Given the description of an element on the screen output the (x, y) to click on. 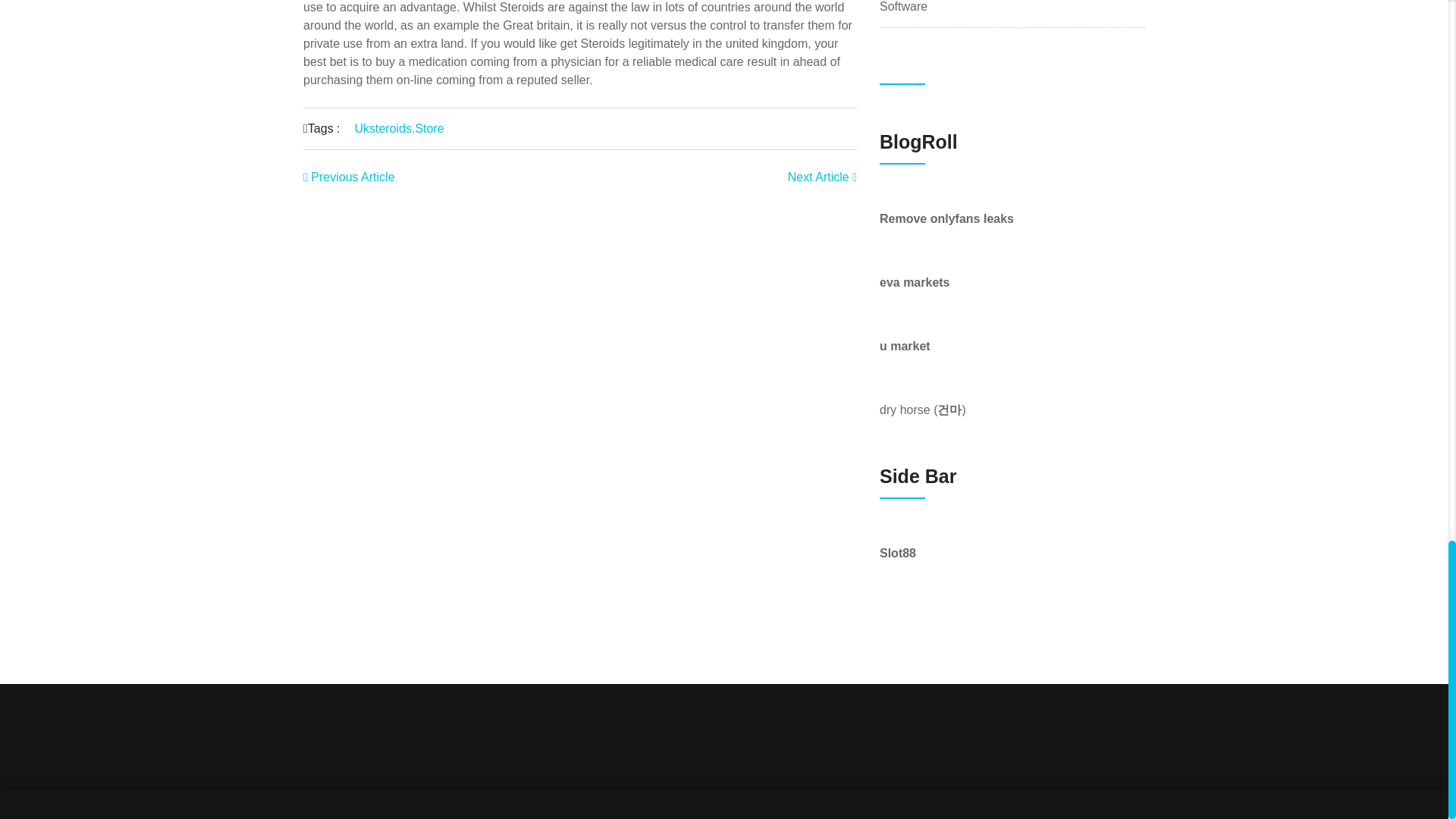
Previous Article (348, 176)
Next Article (822, 176)
u market (904, 345)
Software (903, 7)
Slot88 (897, 553)
Uksteroids.Store (398, 128)
Remove onlyfans leaks (946, 218)
eva markets (914, 282)
